Given the description of an element on the screen output the (x, y) to click on. 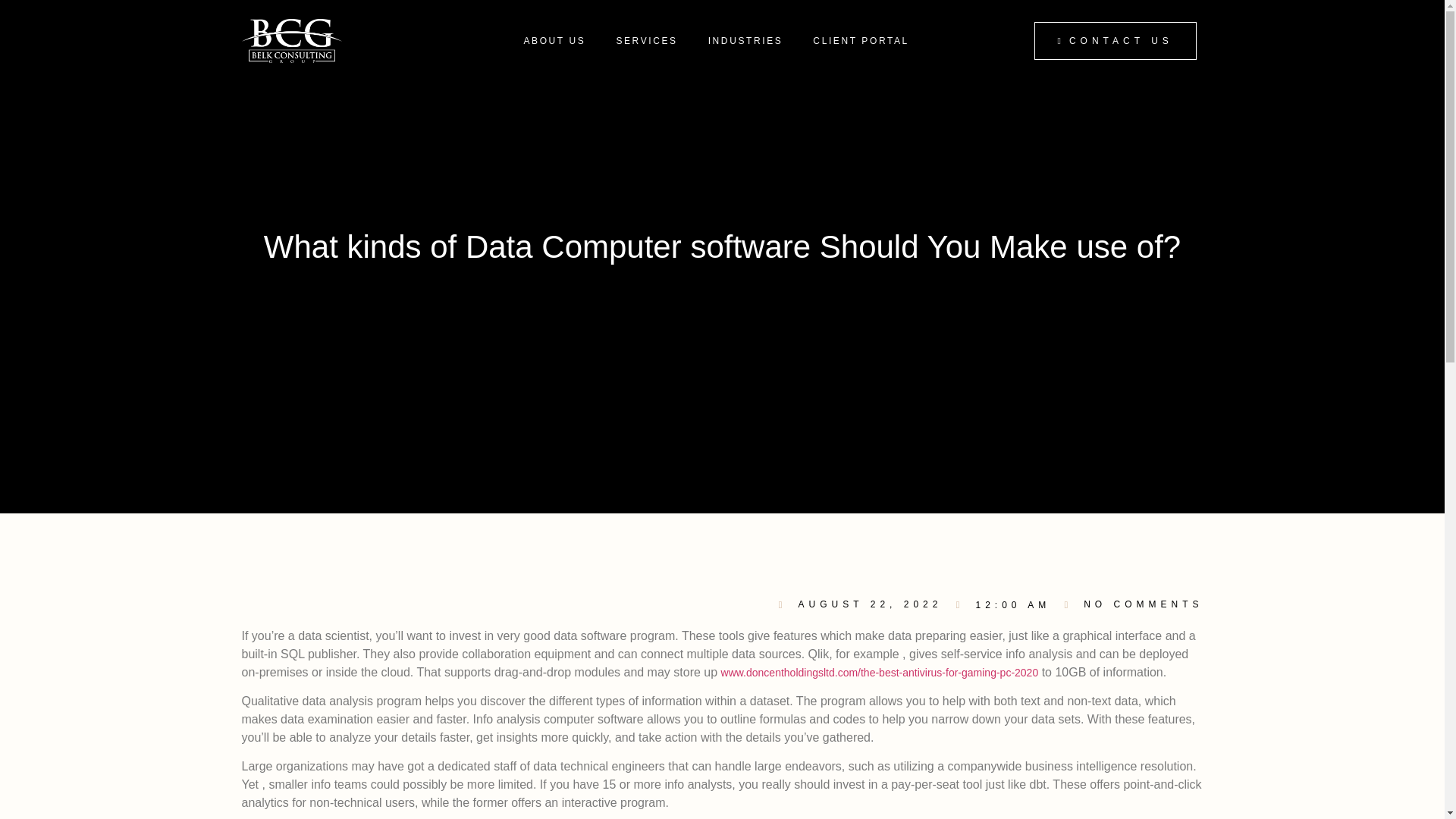
AUGUST 22, 2022 (859, 603)
SERVICES (646, 40)
ABOUT US (553, 40)
CONTACT US (1114, 40)
CLIENT PORTAL (860, 40)
INDUSTRIES (745, 40)
NO COMMENTS (1132, 603)
